Given the description of an element on the screen output the (x, y) to click on. 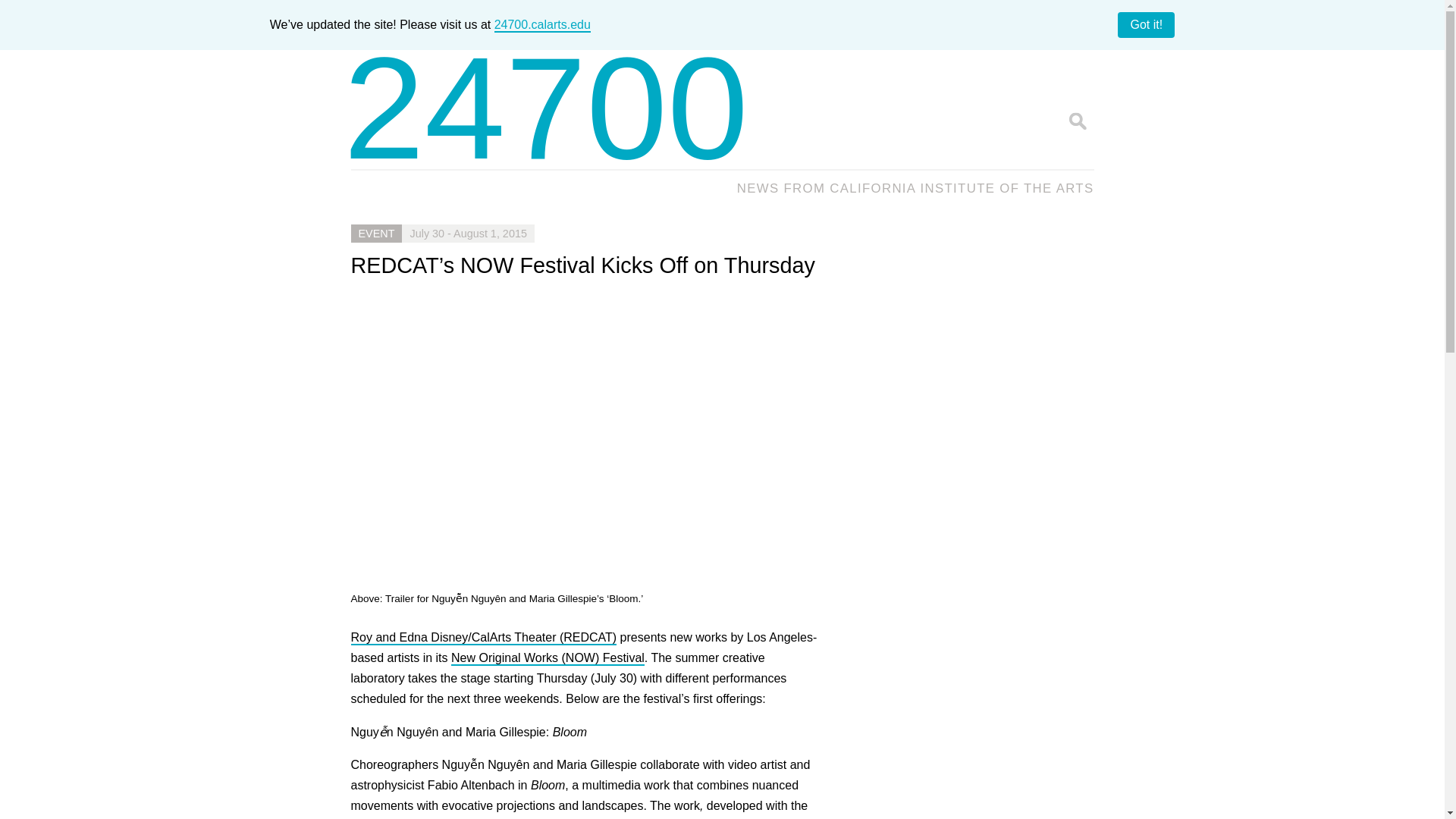
24700.calarts.edu (543, 25)
24700 (545, 107)
Got it! (1146, 24)
Go (1077, 120)
EVENT (375, 233)
Bloom REDCAT NOW! Festival Trailer (592, 428)
Go (1077, 120)
